Given the description of an element on the screen output the (x, y) to click on. 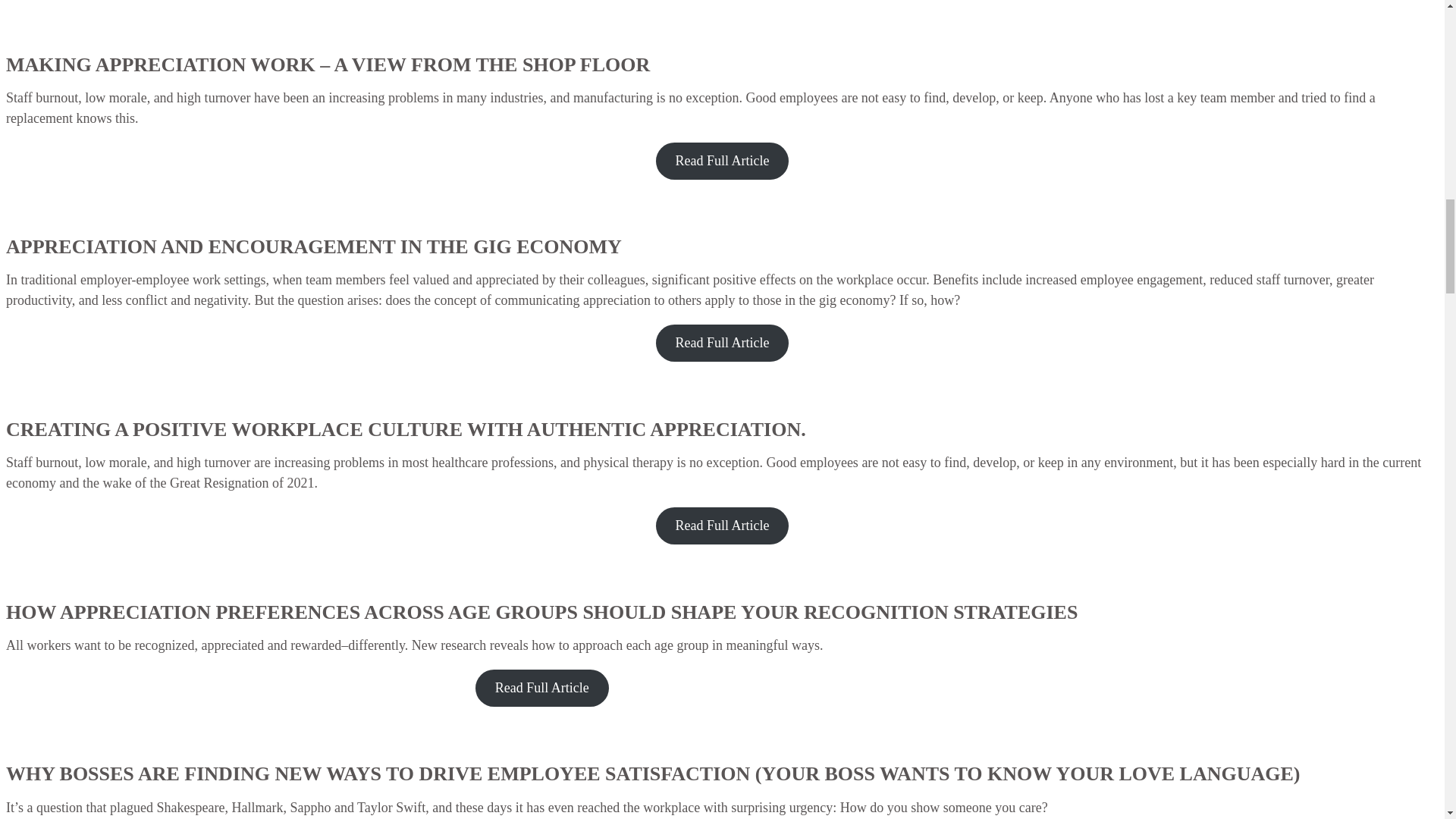
Read Full Article (542, 687)
Read Full Article (722, 160)
Read Full Article (722, 525)
Read Full Article (722, 342)
